Given the description of an element on the screen output the (x, y) to click on. 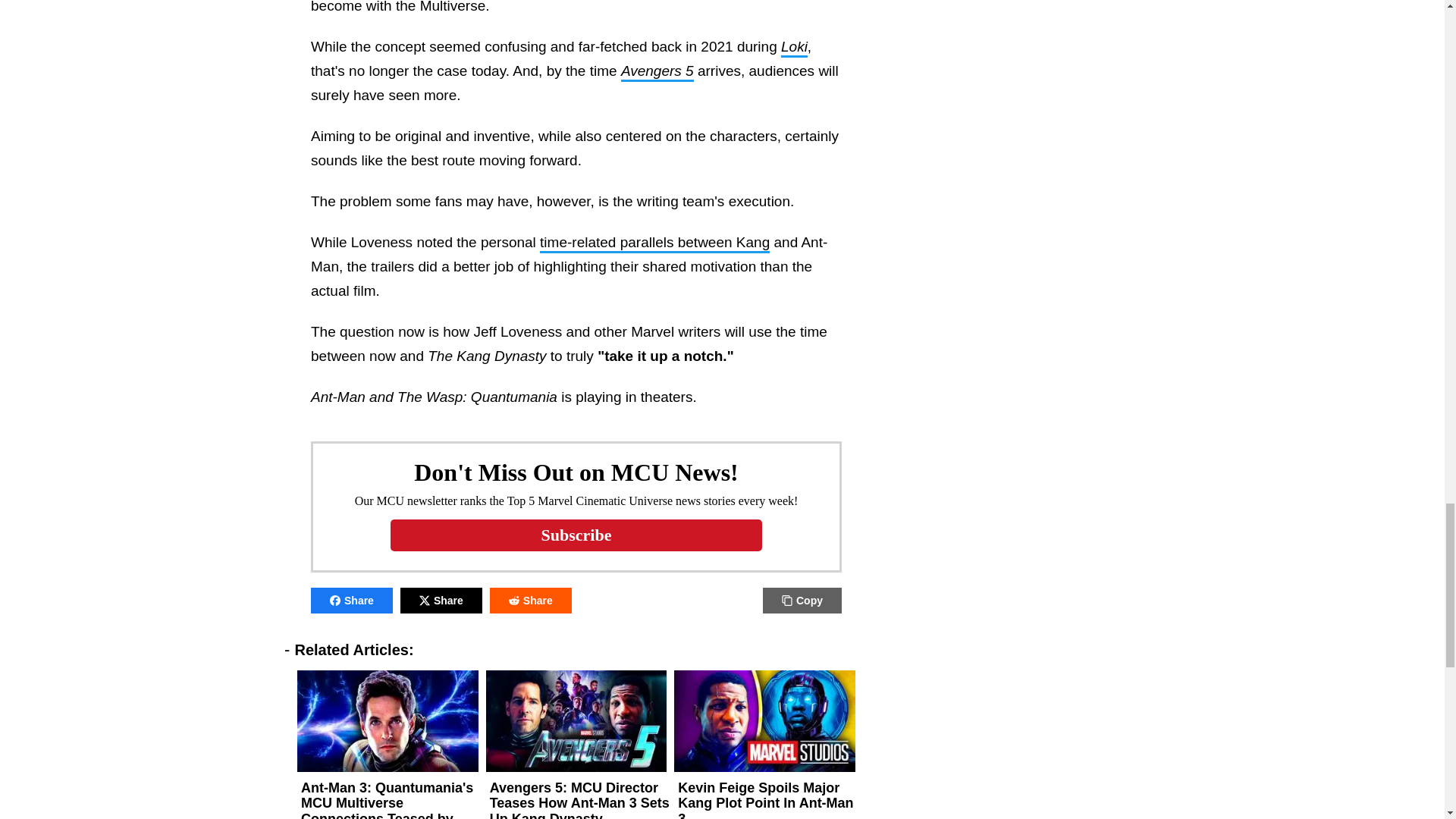
Share on Reddit (530, 599)
